Given the description of an element on the screen output the (x, y) to click on. 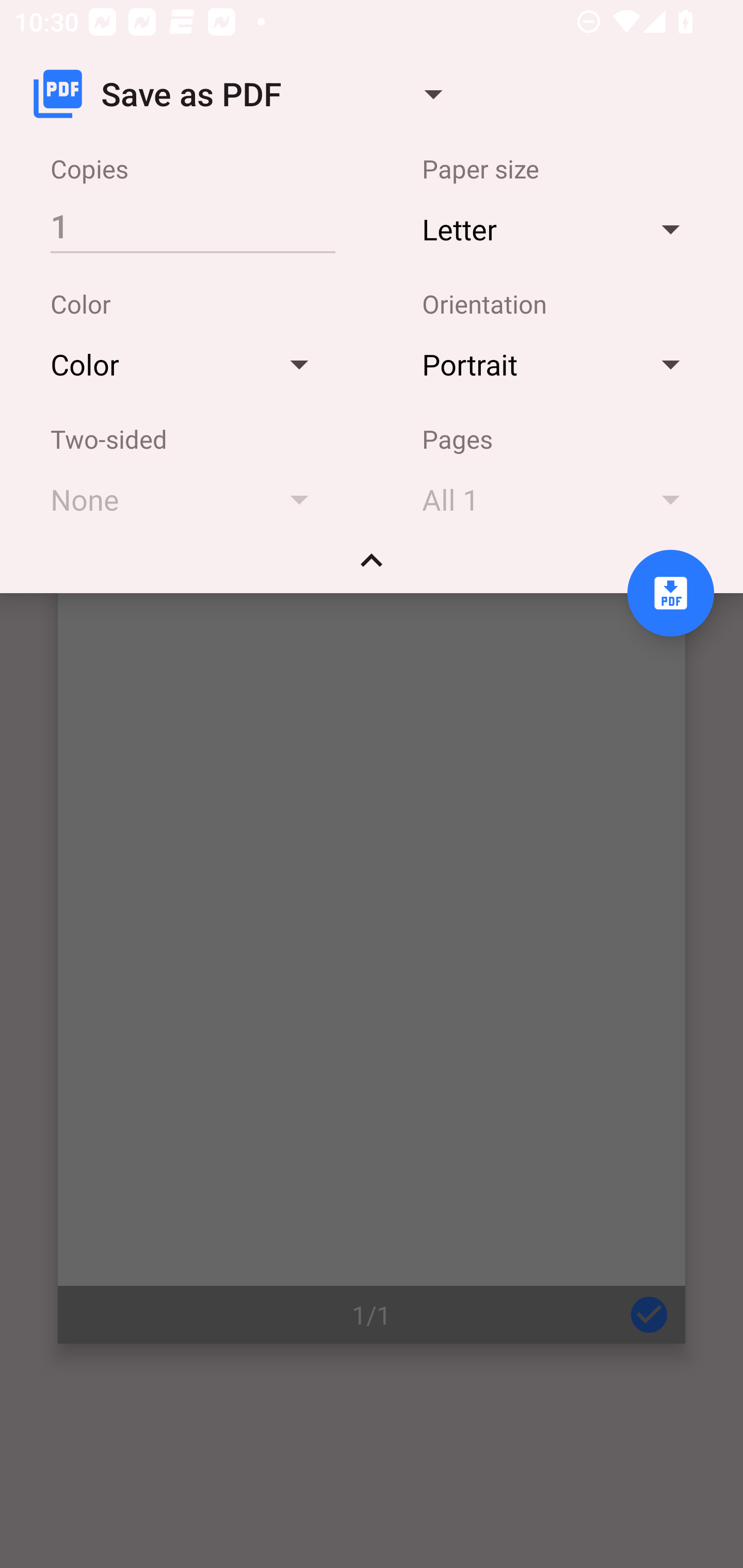
Save as PDF (245, 93)
1 (192, 225)
Letter (560, 228)
Color (189, 364)
Portrait (560, 364)
None (189, 499)
All 1 (560, 499)
Collapse handle (371, 567)
Save to PDF (670, 593)
